Given the description of an element on the screen output the (x, y) to click on. 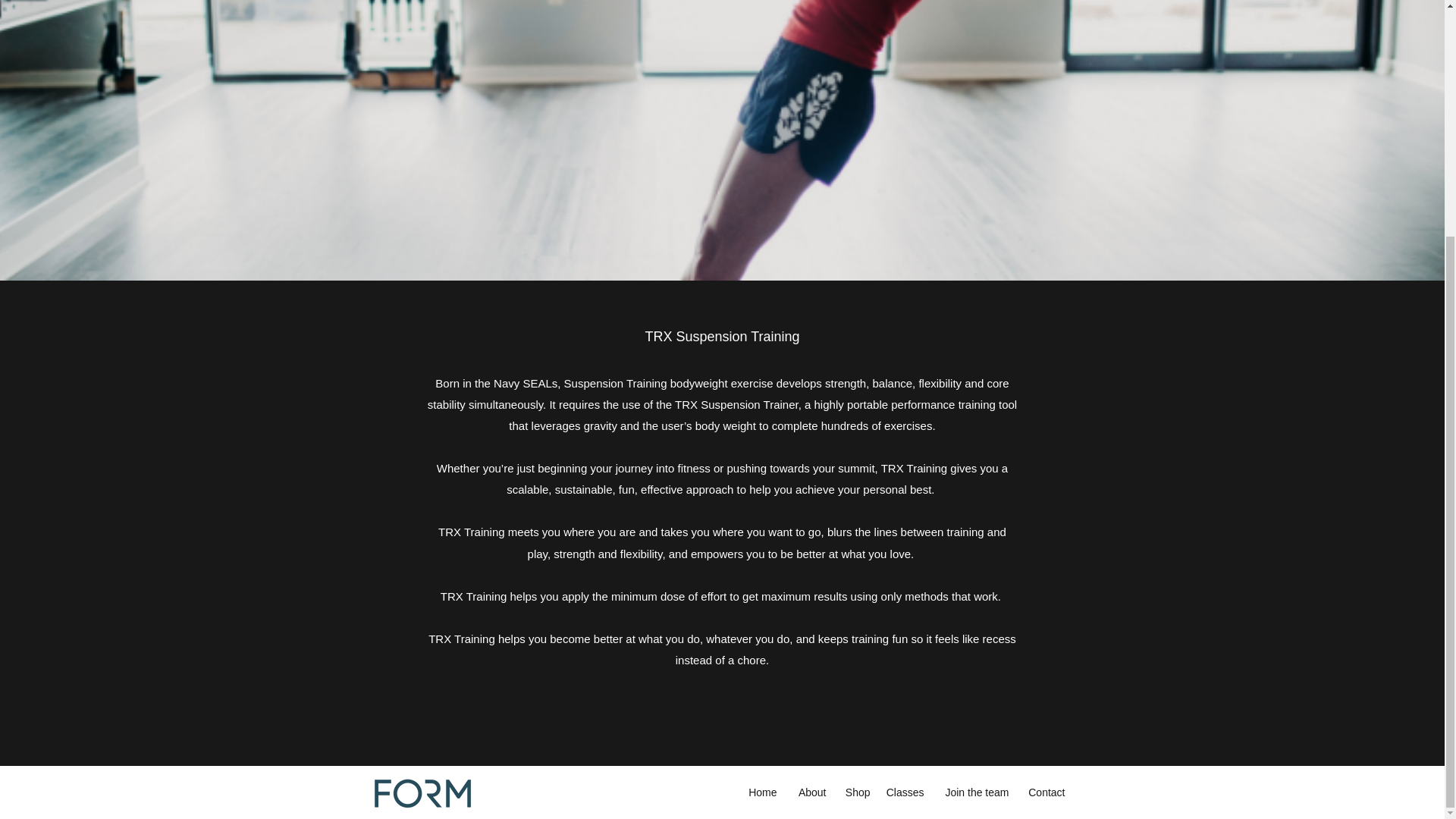
Home (760, 792)
Contact (1043, 792)
Shop (855, 792)
Join the team (973, 792)
Classes (904, 792)
About (808, 792)
